Given the description of an element on the screen output the (x, y) to click on. 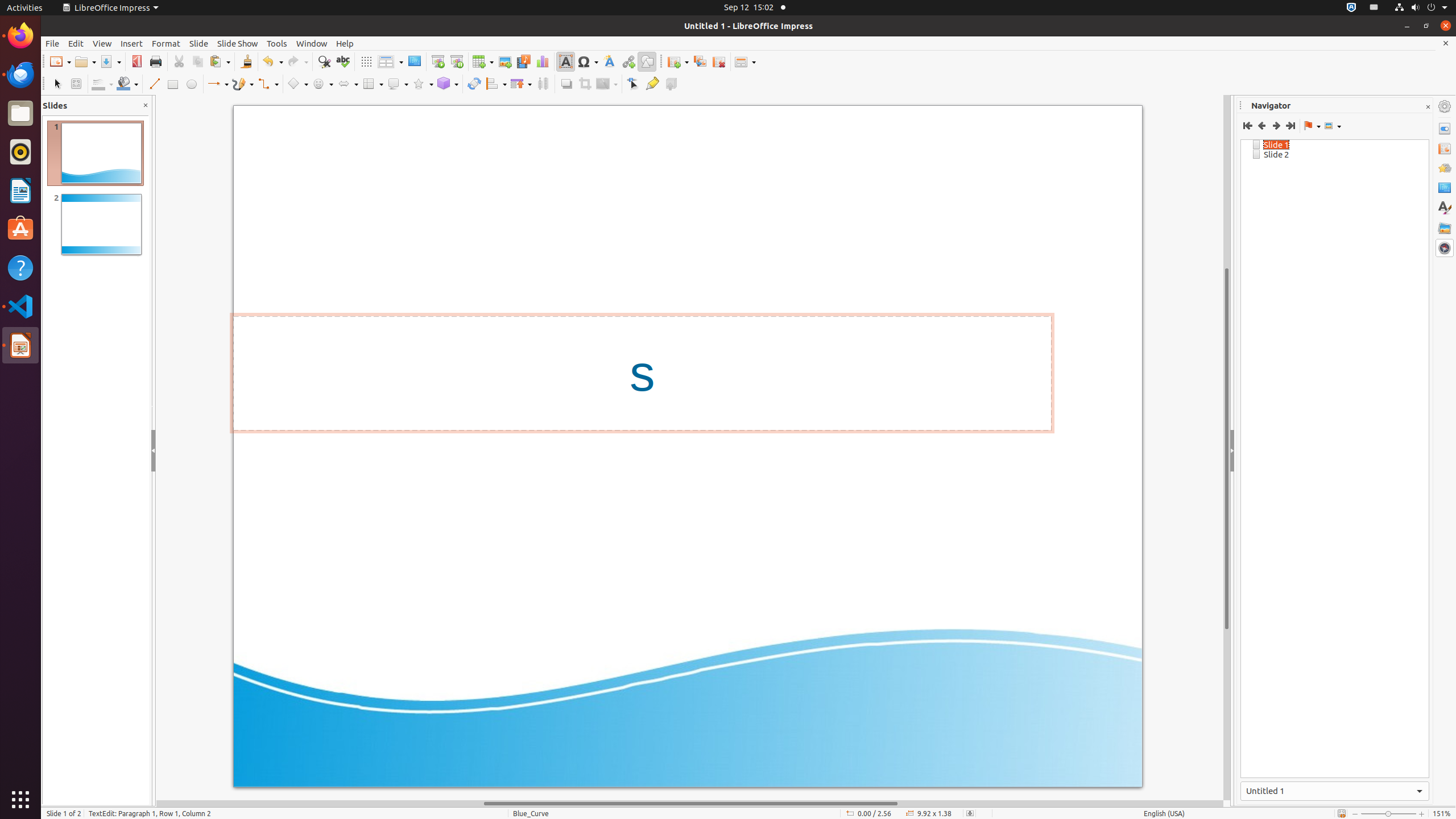
Line Element type: push-button (153, 83)
Print Element type: push-button (155, 61)
Fontwork Style Element type: toggle-button (609, 61)
Align Element type: push-button (495, 83)
Media Element type: push-button (523, 61)
